Given the description of an element on the screen output the (x, y) to click on. 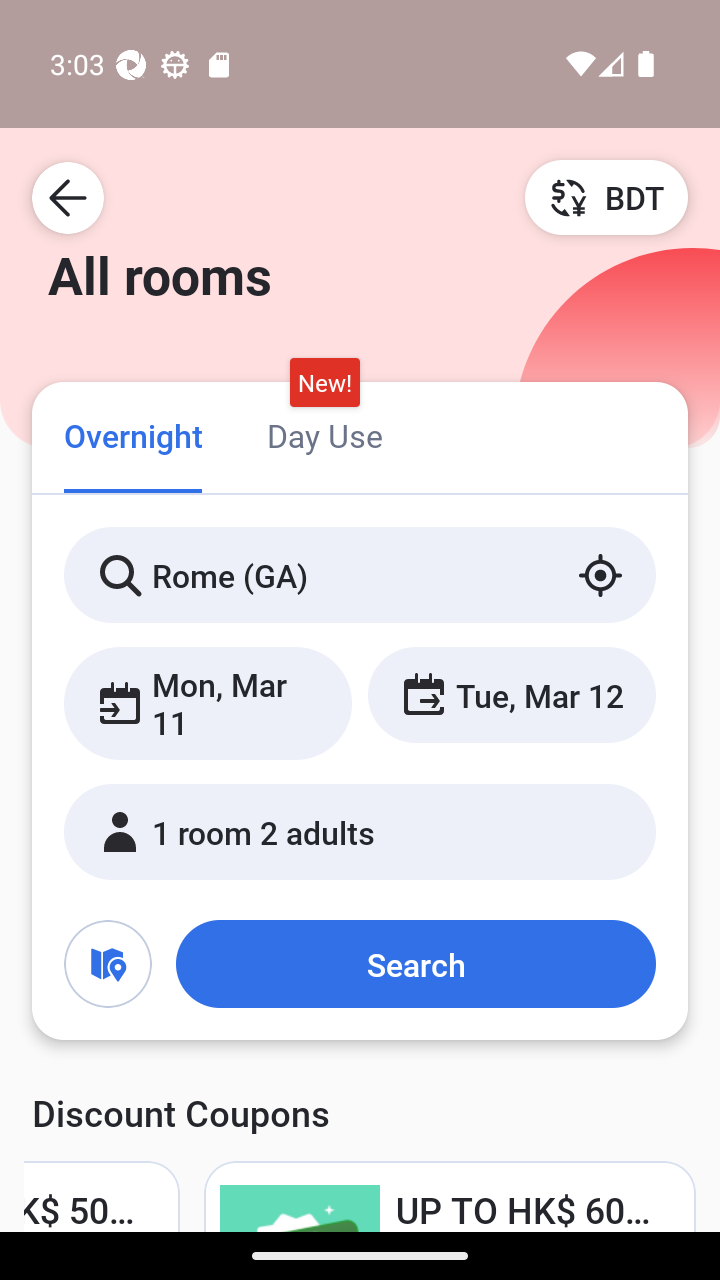
BDT (606, 197)
New! (324, 383)
Day Use (324, 434)
Rome (GA) (359, 575)
Mon, Mar 11 (208, 703)
Tue, Mar 12 (511, 694)
1 room 2 adults (359, 831)
Search (415, 964)
